Given the description of an element on the screen output the (x, y) to click on. 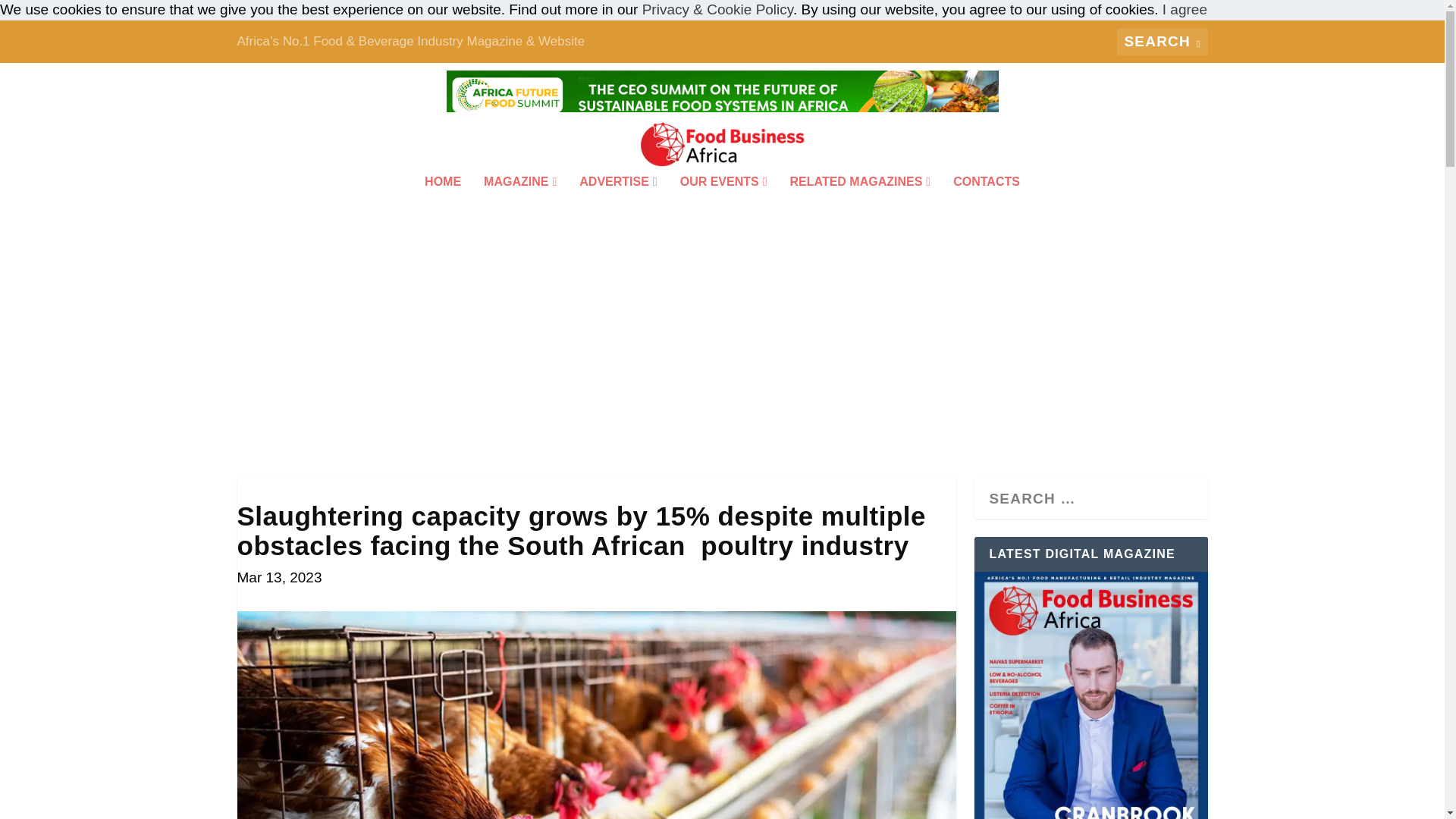
RELATED MAGAZINES (860, 202)
I agree (1184, 9)
MAGAZINE (519, 202)
OUR EVENTS (723, 202)
ADVERTISE (617, 202)
CONTACTS (986, 202)
LATEST DIGITAL MAGAZINE (1090, 695)
Search for: (1161, 41)
